Given the description of an element on the screen output the (x, y) to click on. 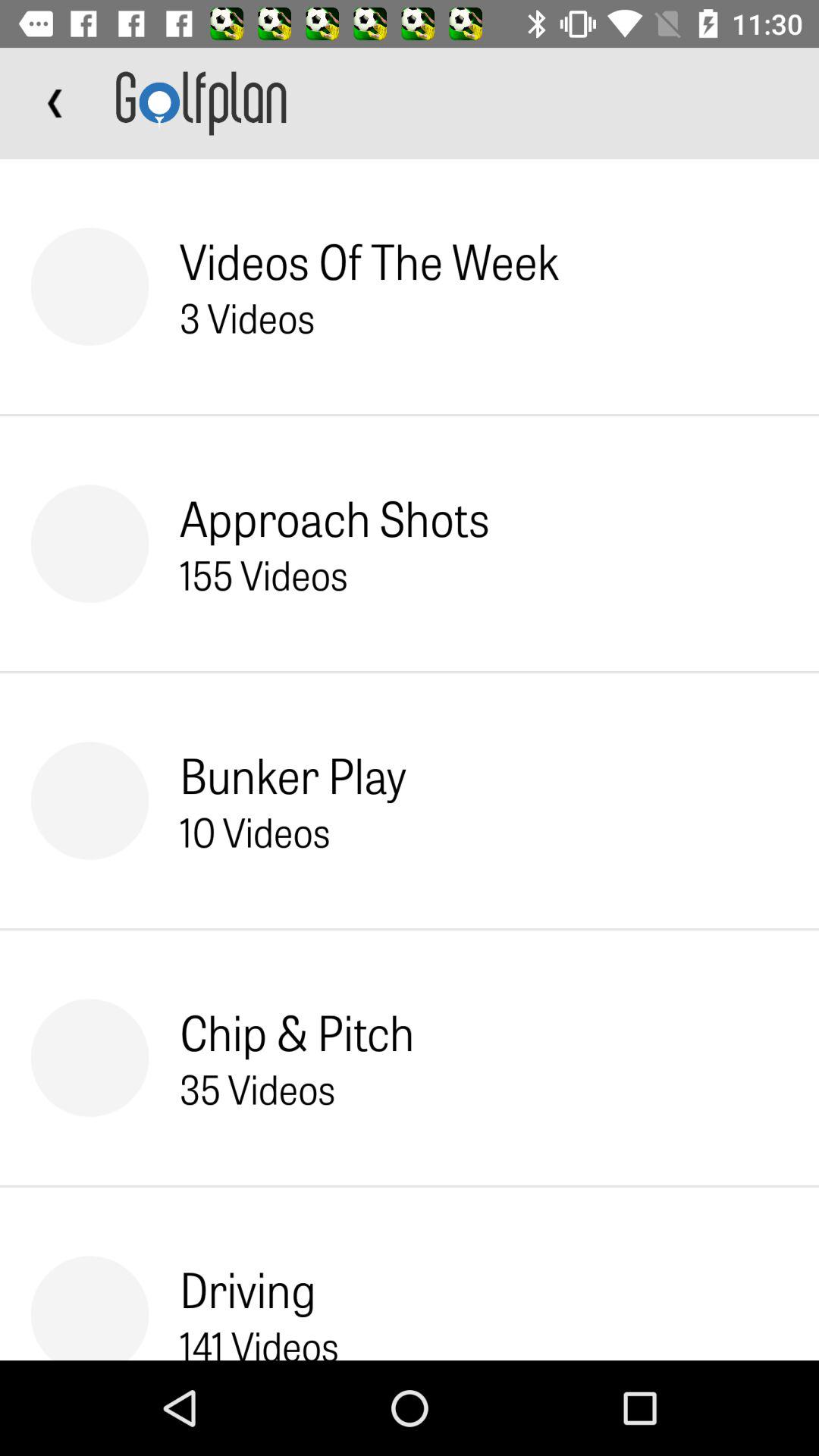
select the item above 3 videos (369, 260)
